Given the description of an element on the screen output the (x, y) to click on. 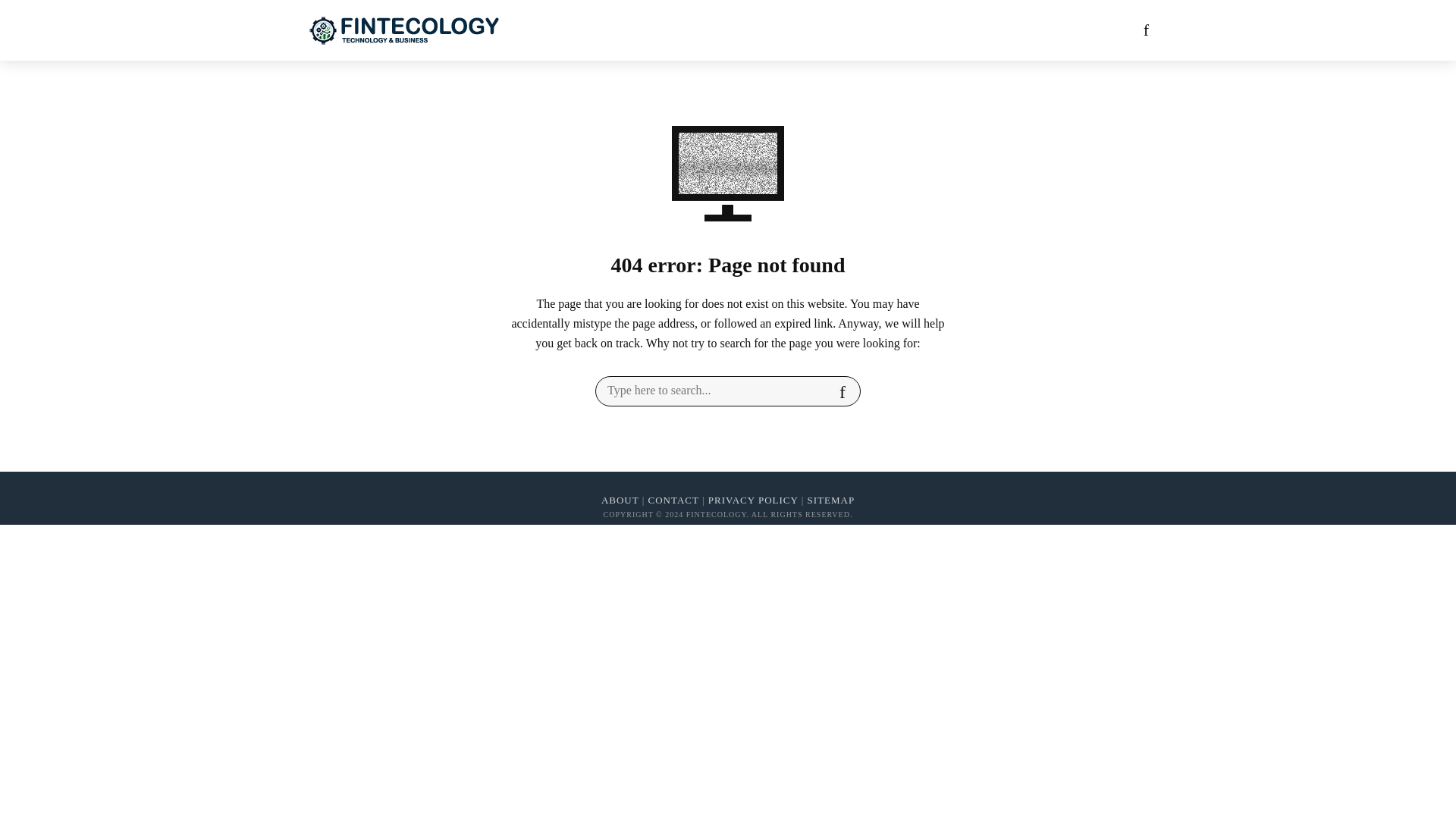
SITEMAP (830, 500)
CONTACT (672, 500)
ABOUT (620, 500)
PRIVACY POLICY (752, 500)
